Given the description of an element on the screen output the (x, y) to click on. 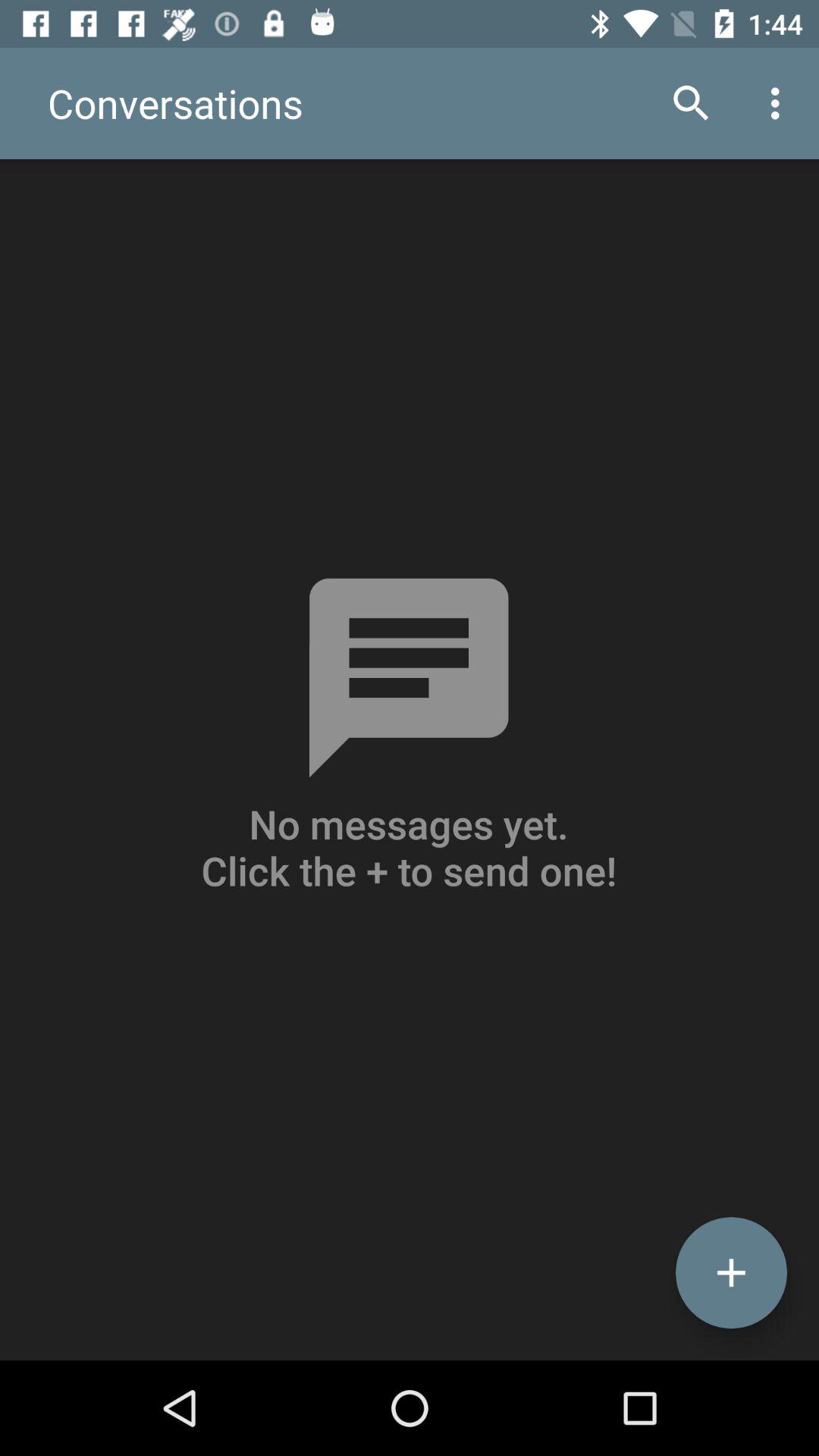
start message (731, 1272)
